Given the description of an element on the screen output the (x, y) to click on. 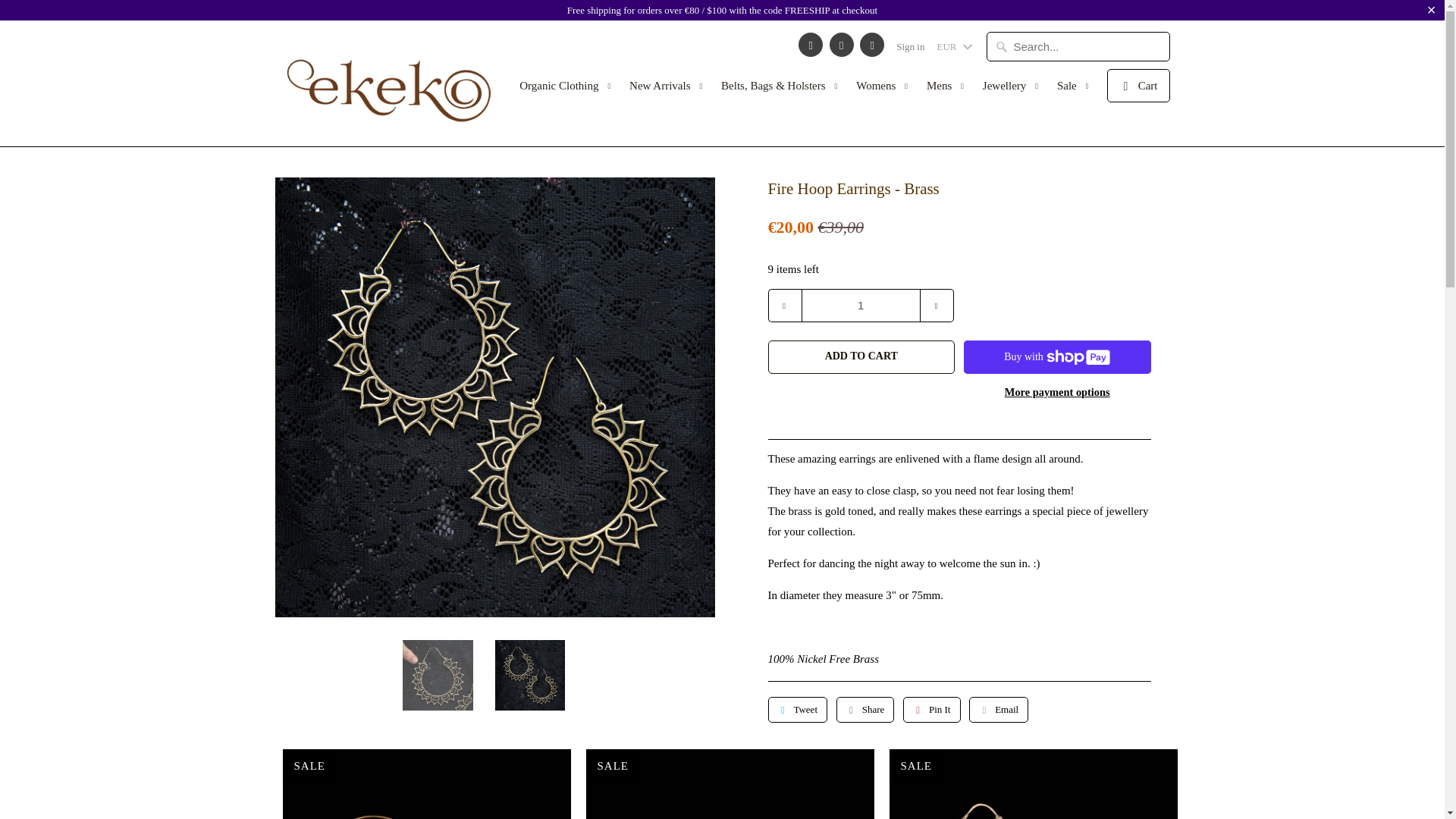
New Arrivals (667, 89)
Ekeko Crafts on Facebook (809, 44)
Cart (1137, 85)
Share this on Pinterest (930, 709)
Ekeko Crafts (388, 82)
Sign in (910, 46)
1 (860, 305)
Email this to a friend (998, 709)
Ekeko Crafts on Instagram (841, 44)
Share this on Twitter (797, 709)
